Given the description of an element on the screen output the (x, y) to click on. 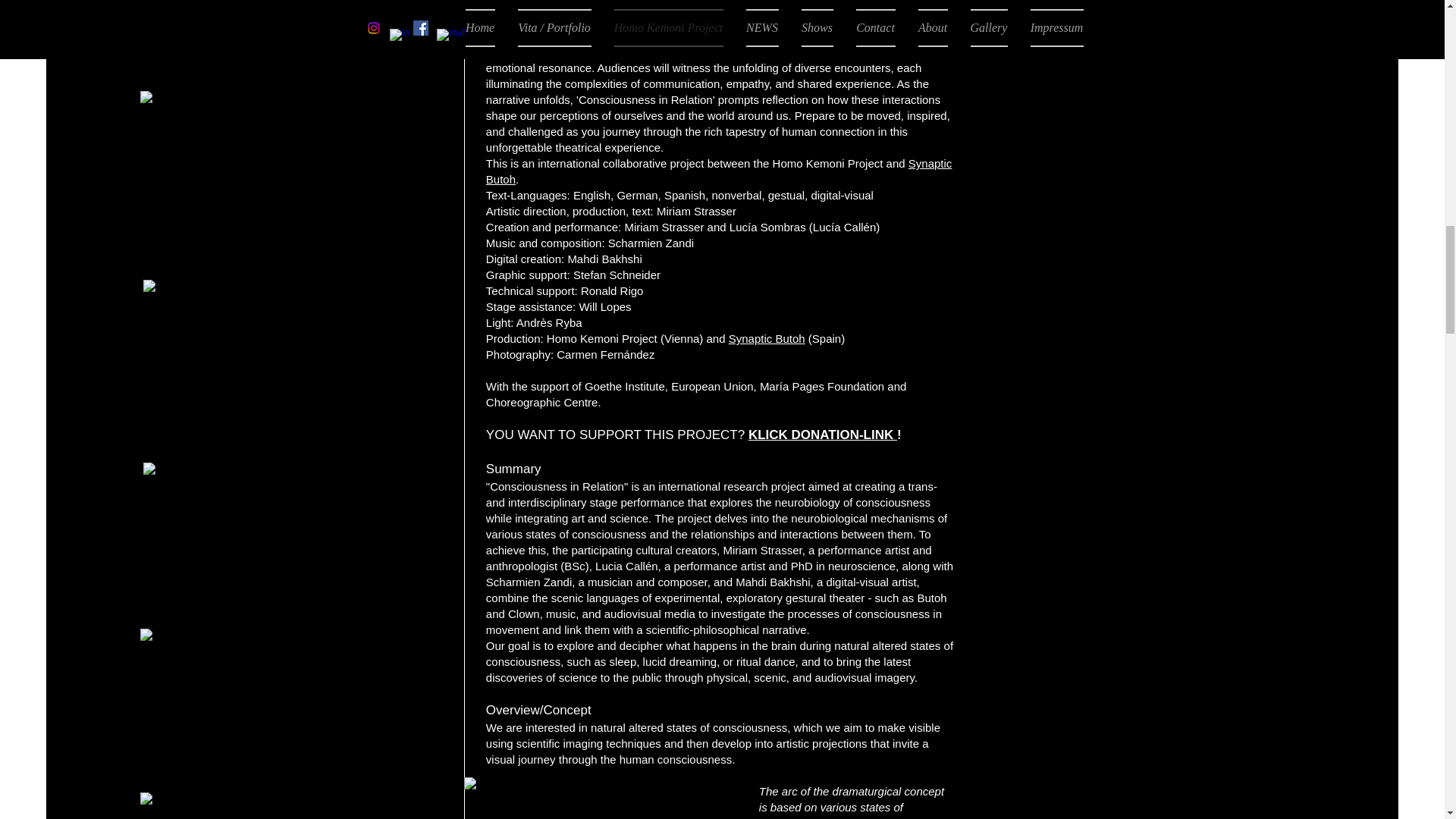
Synaptic Butoh (767, 338)
Synaptic Butoh (719, 171)
KLICK DONATION-LINK ! (824, 434)
